Given the description of an element on the screen output the (x, y) to click on. 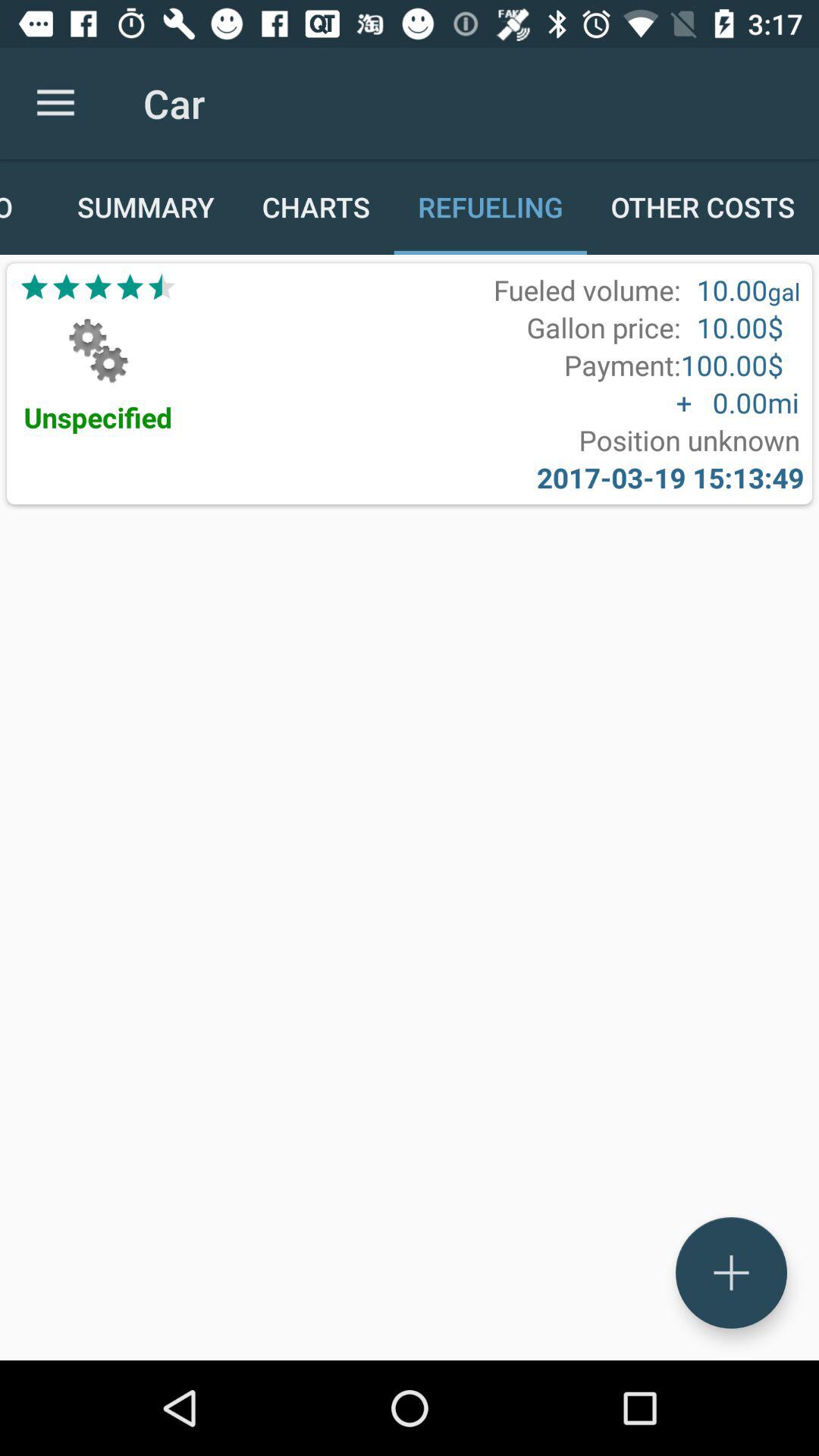
launch the item next to 100.00 icon (622, 364)
